Given the description of an element on the screen output the (x, y) to click on. 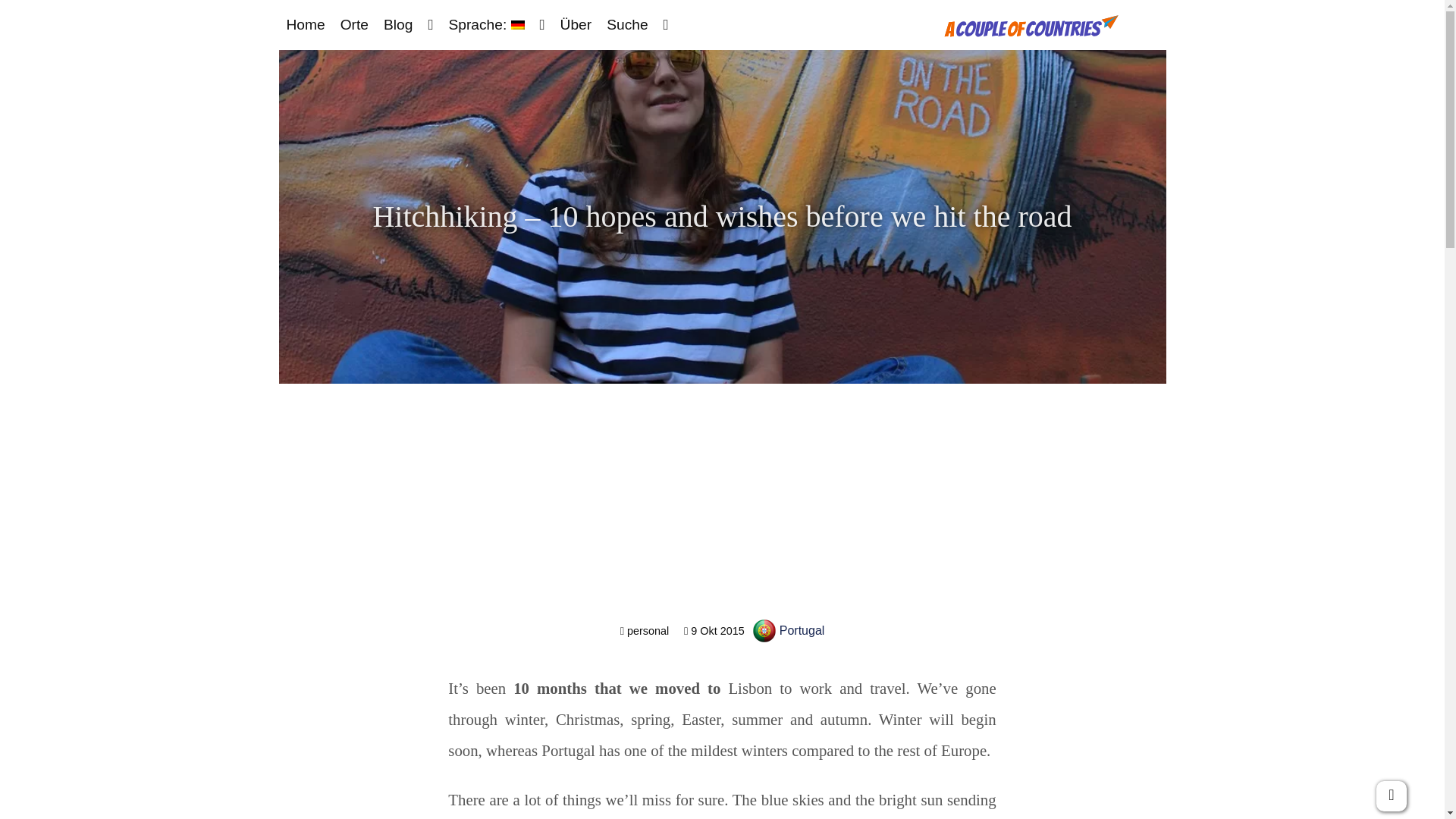
Portugal (788, 630)
A Couple of Countries (1030, 31)
personal (644, 630)
Deutsch (486, 24)
Suche (626, 24)
Sprache:  (486, 24)
Home (306, 24)
